Given the description of an element on the screen output the (x, y) to click on. 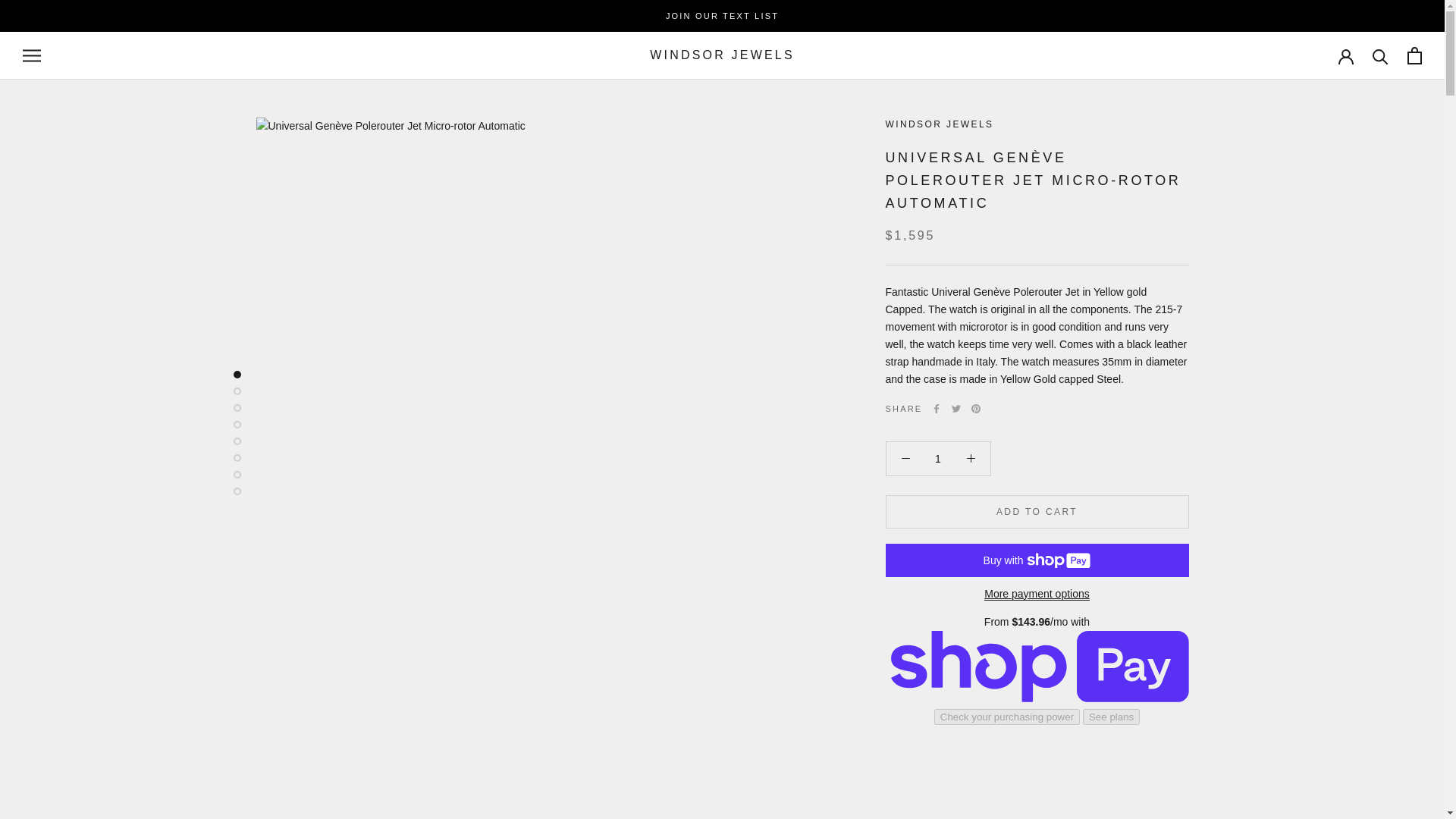
1 (938, 458)
